Given the description of an element on the screen output the (x, y) to click on. 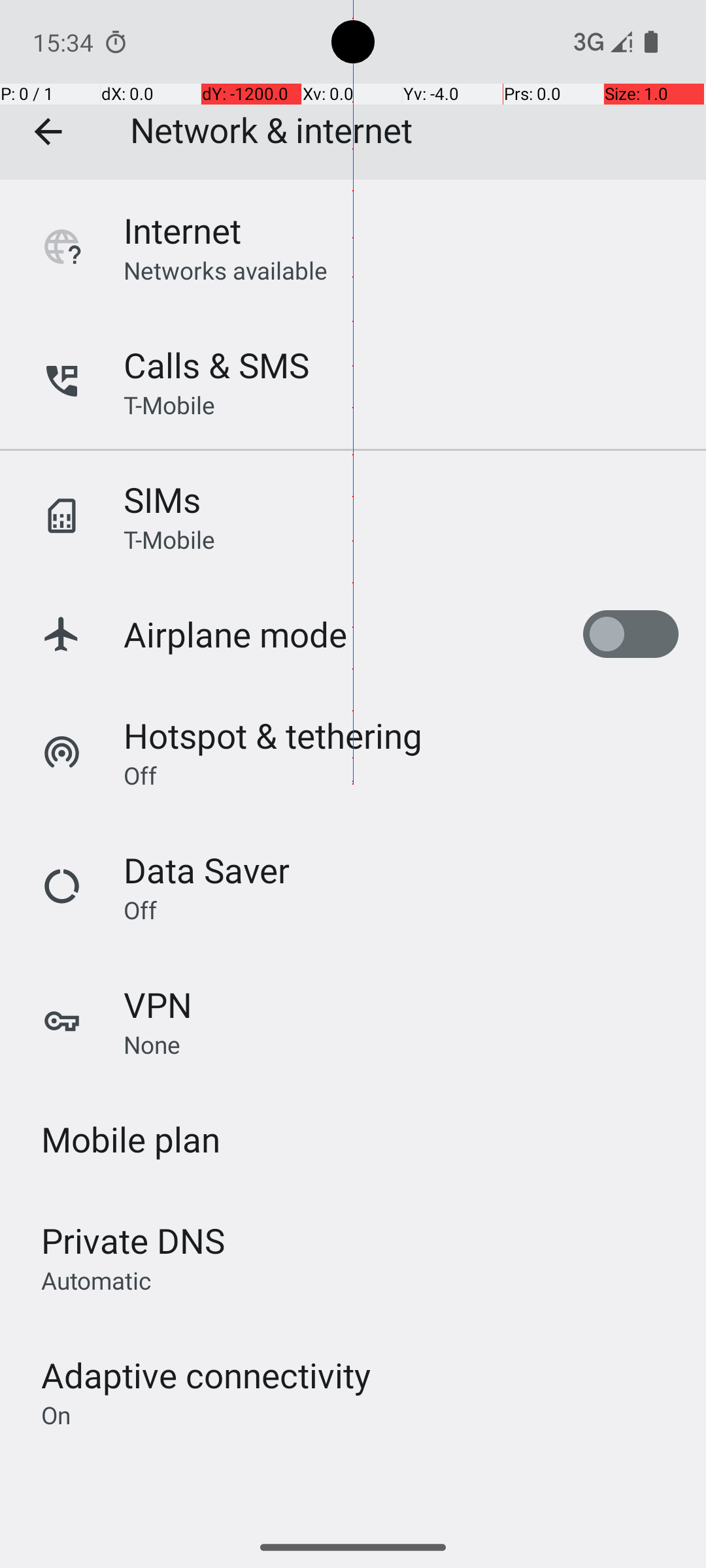
Adaptive connectivity Element type: android.widget.TextView (205, 1374)
